Given the description of an element on the screen output the (x, y) to click on. 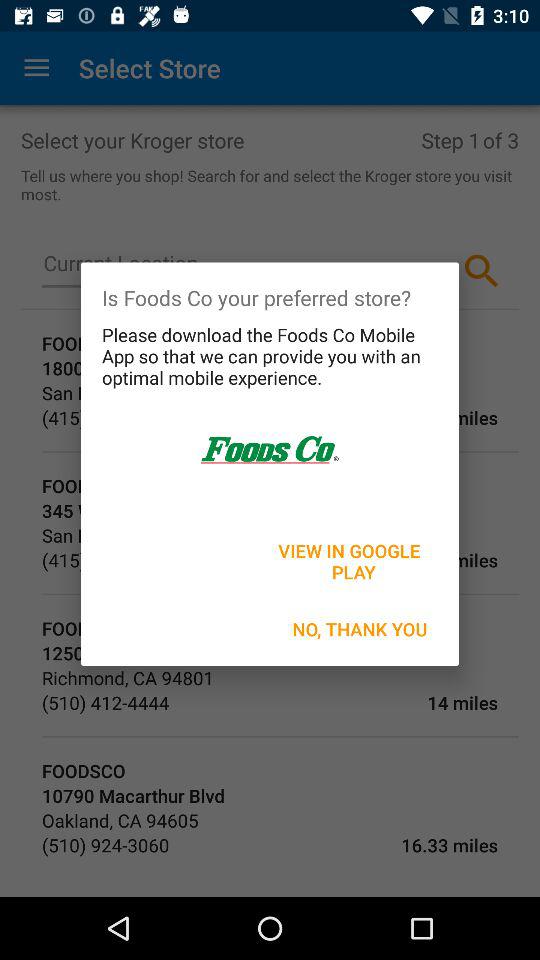
press view in google item (351, 561)
